Given the description of an element on the screen output the (x, y) to click on. 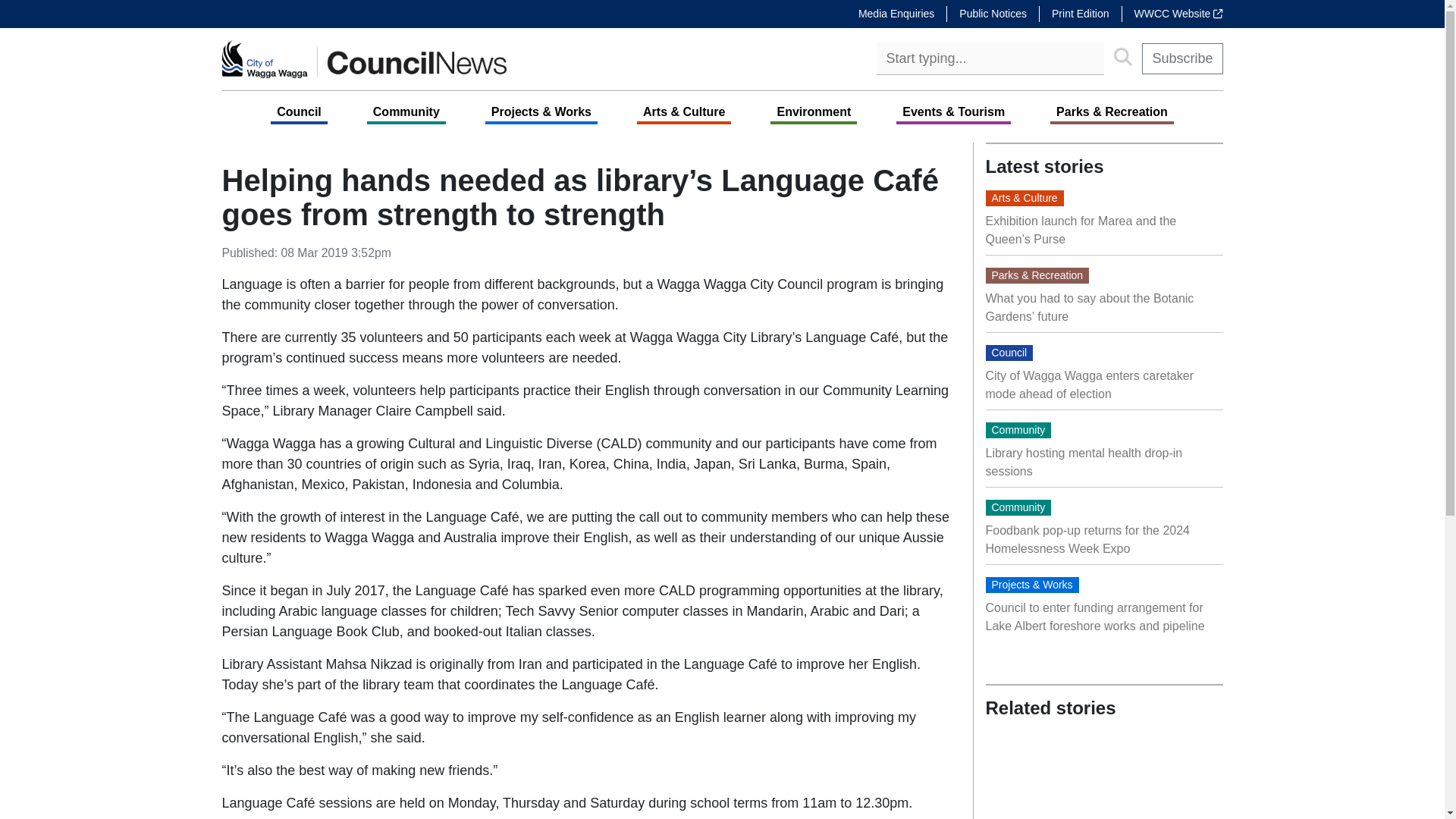
Public Notices (993, 13)
Print Edition (1080, 13)
Media Enquiries (896, 13)
Community (405, 110)
Header search input (989, 58)
Logo (363, 58)
Skip to content (256, 13)
WWCC Website (1172, 13)
Environment (813, 110)
City of Wagga Wagga enters caretaker mode ahead of election (1089, 384)
